Given the description of an element on the screen output the (x, y) to click on. 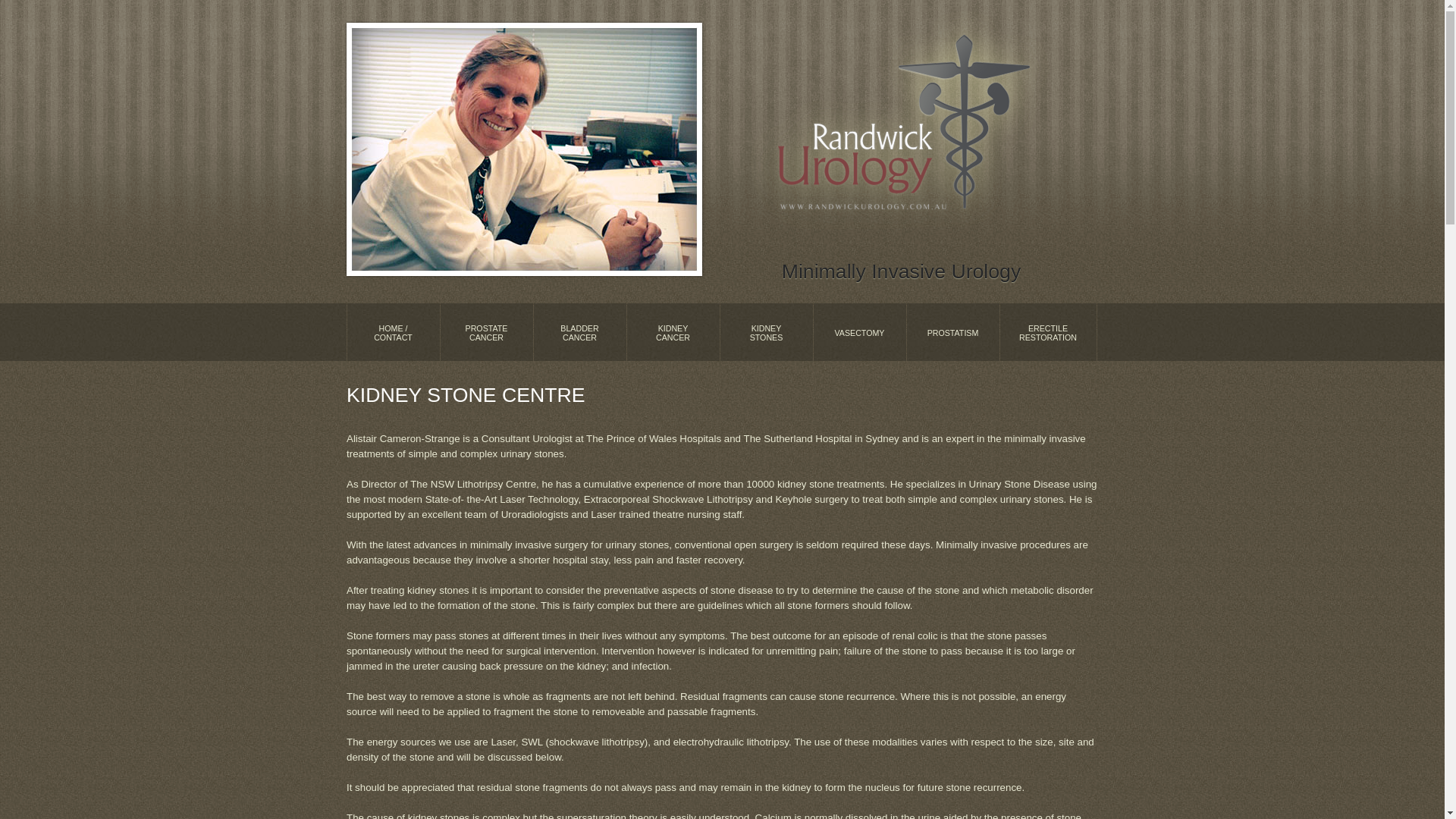
PROSTATE
CANCER Element type: text (486, 331)
KIDNEY
STONES Element type: text (765, 331)
VASECTOMY Element type: text (859, 331)
PROSTATISM Element type: text (952, 331)
BLADDER
CANCER Element type: text (579, 331)
KIDNEY
CANCER Element type: text (672, 331)
ERECTILE
RESTORATION Element type: text (1047, 331)
HOME /
CONTACT Element type: text (392, 331)
